Given the description of an element on the screen output the (x, y) to click on. 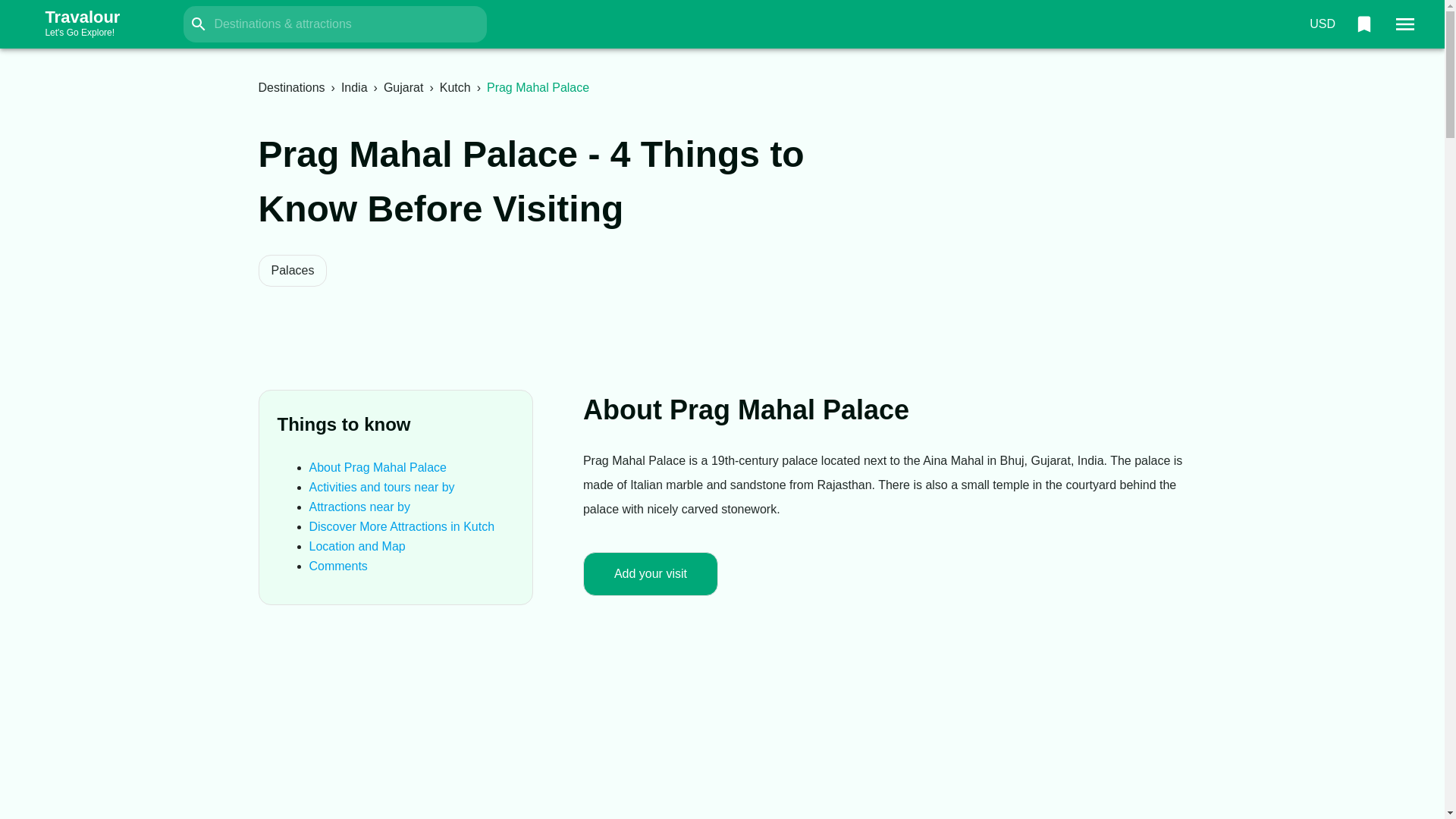
About Prag Mahal Palace (377, 467)
0 (1363, 24)
Add your visit (650, 573)
Comments (338, 565)
Attractions near by (359, 506)
Destinations (97, 23)
Location and Map (290, 87)
Activities and tours near by (357, 545)
Gujarat (381, 486)
